Given the description of an element on the screen output the (x, y) to click on. 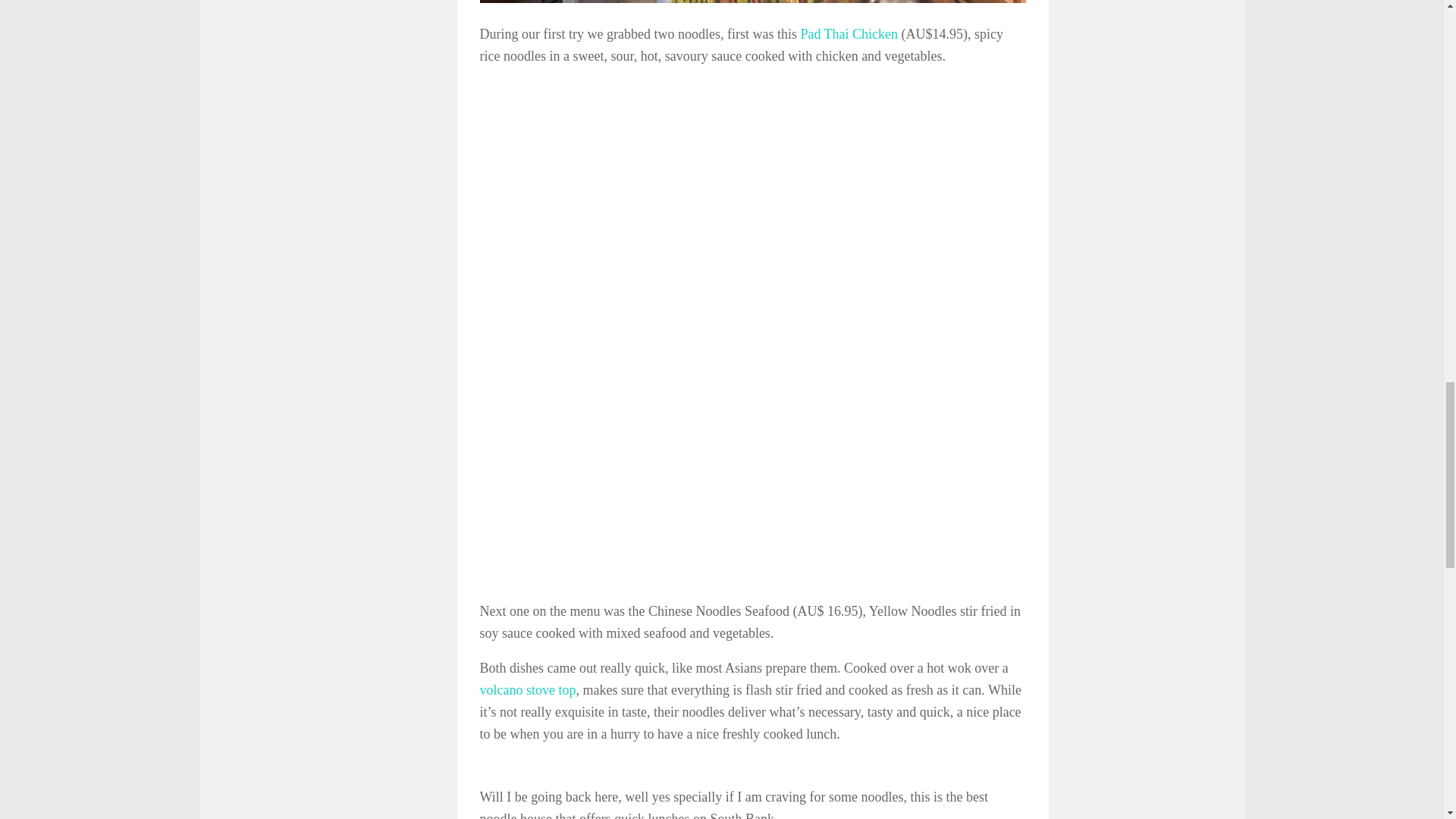
P'Nut Noodle Bar 03 (653, 212)
